Given the description of an element on the screen output the (x, y) to click on. 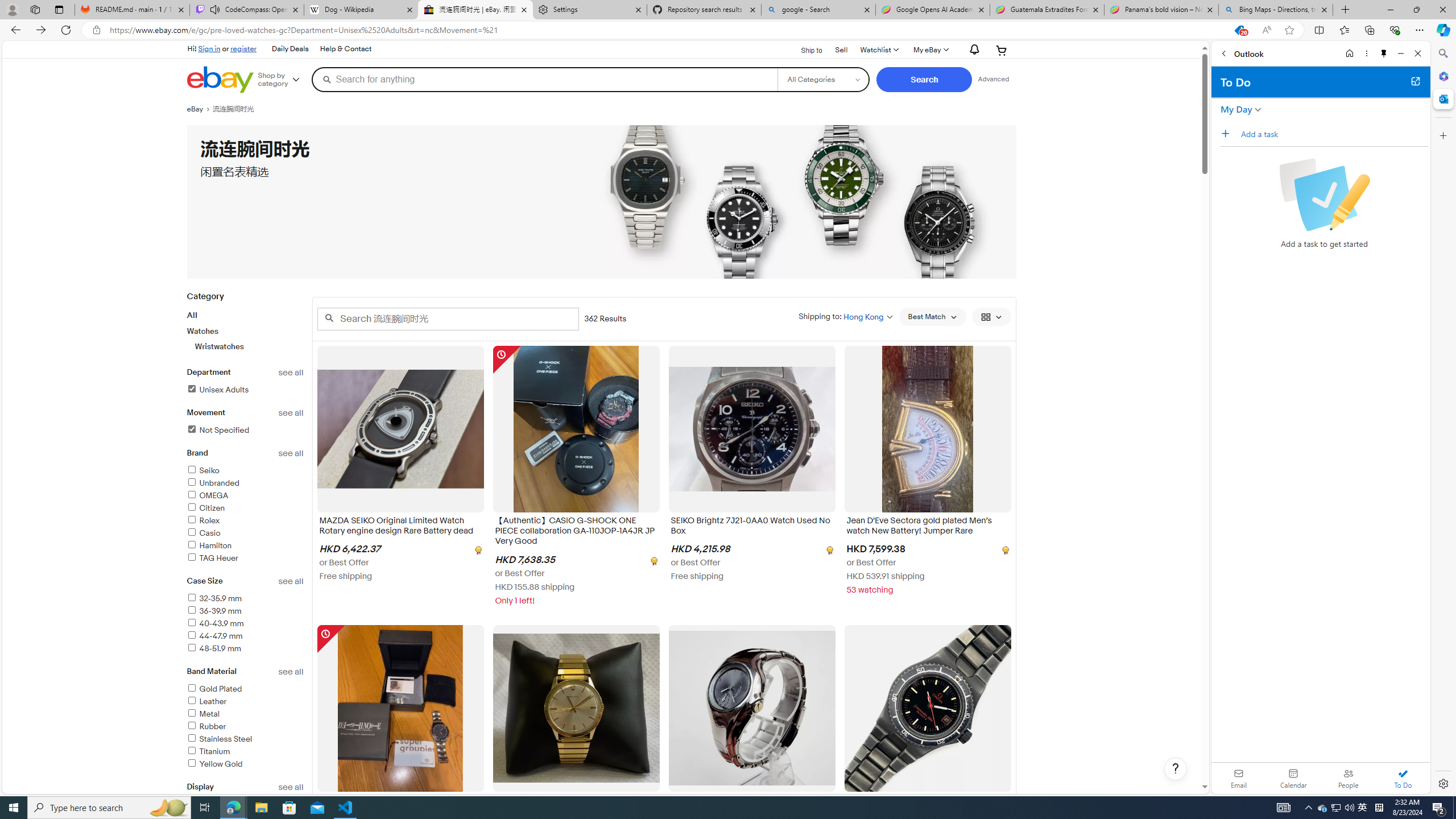
Gold Plated (213, 688)
Unisex AdultsFilter Applied (245, 389)
AllWatchesWristwatches (245, 330)
Metal (202, 714)
Citizen (245, 508)
44-47.9 mm (245, 636)
Your shopping cart (1001, 49)
register (243, 48)
Metal (245, 714)
